Given the description of an element on the screen output the (x, y) to click on. 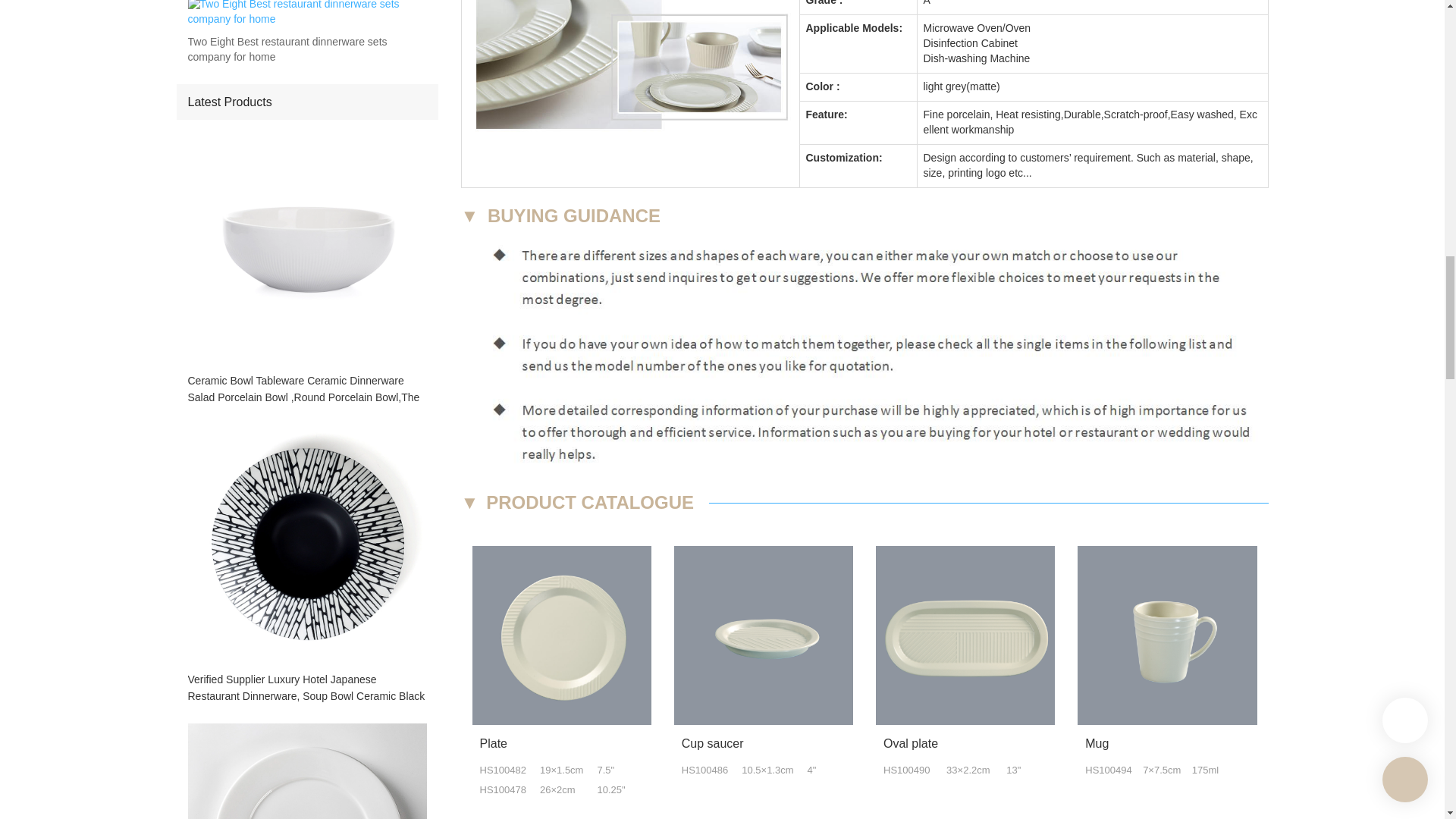
undefined (1166, 635)
undefined (965, 635)
undefined (629, 69)
Two Eight Best restaurant dinnerware sets company for home (306, 50)
undefined (560, 635)
undefined (763, 635)
